Given the description of an element on the screen output the (x, y) to click on. 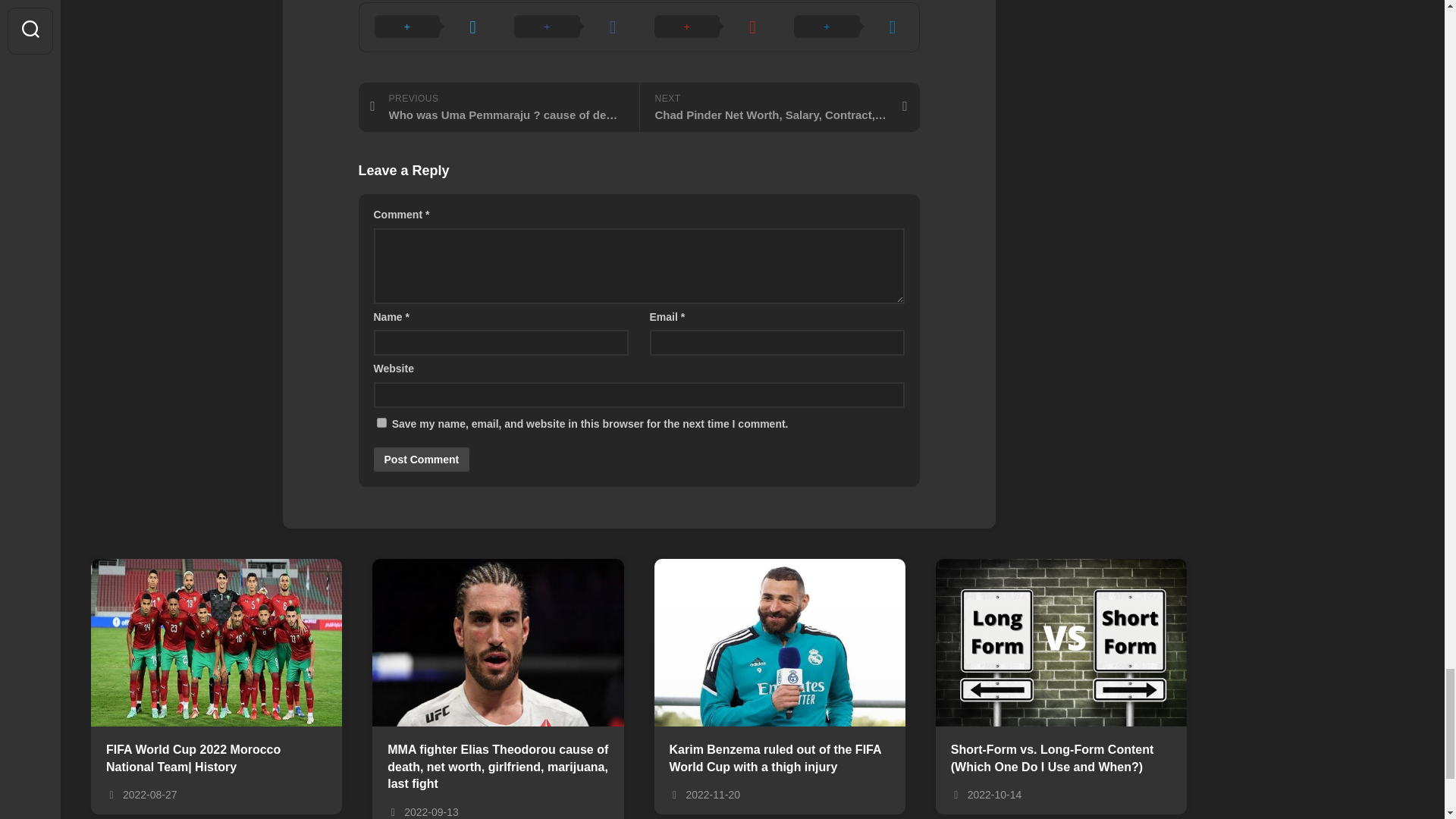
Share on Facebook (569, 27)
Post Comment (420, 459)
yes (380, 422)
Share on Pinterest (708, 27)
Share on X (429, 27)
Share on LinkedIn (848, 27)
